Given the description of an element on the screen output the (x, y) to click on. 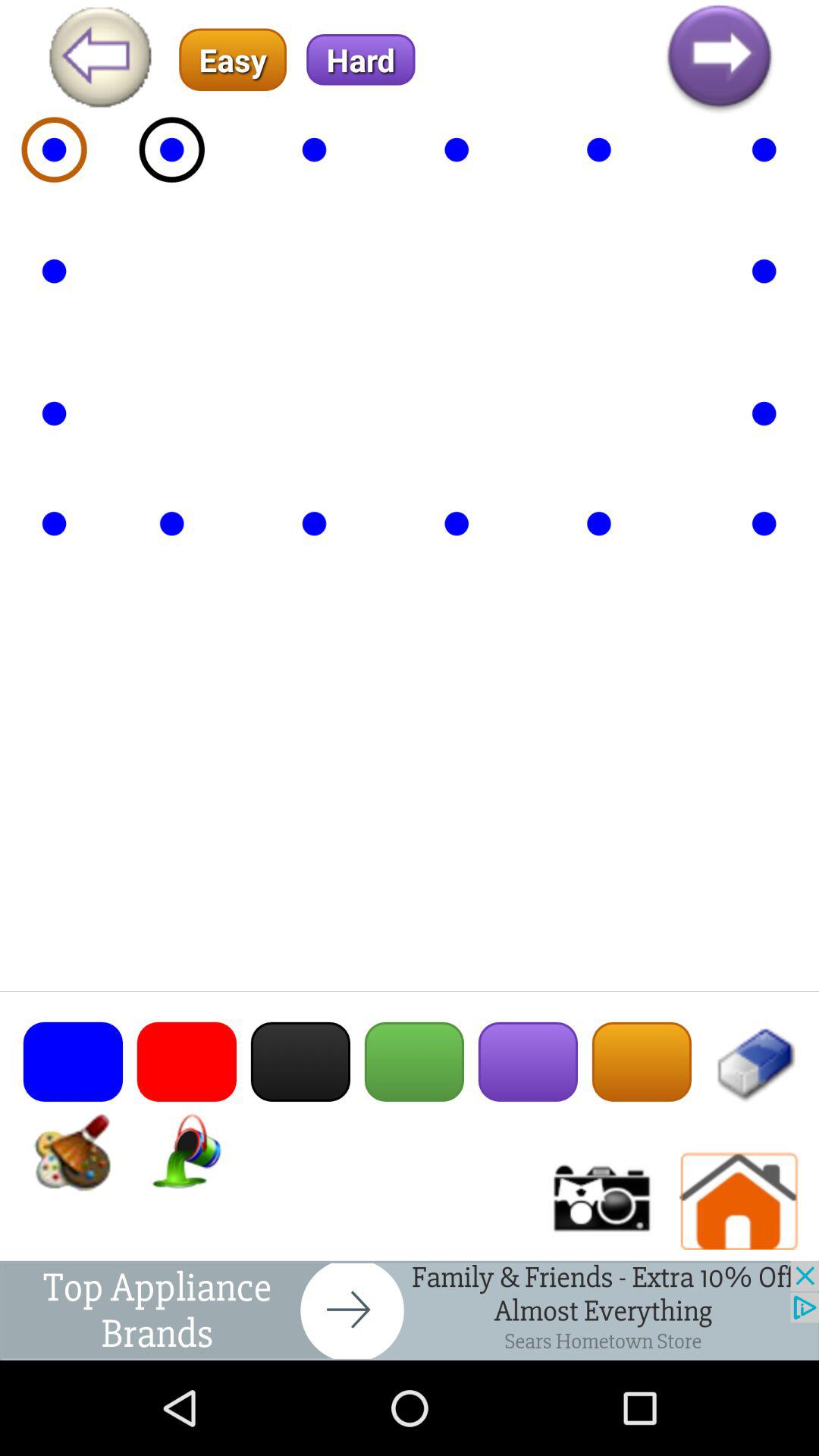
choose camera (599, 1200)
